Given the description of an element on the screen output the (x, y) to click on. 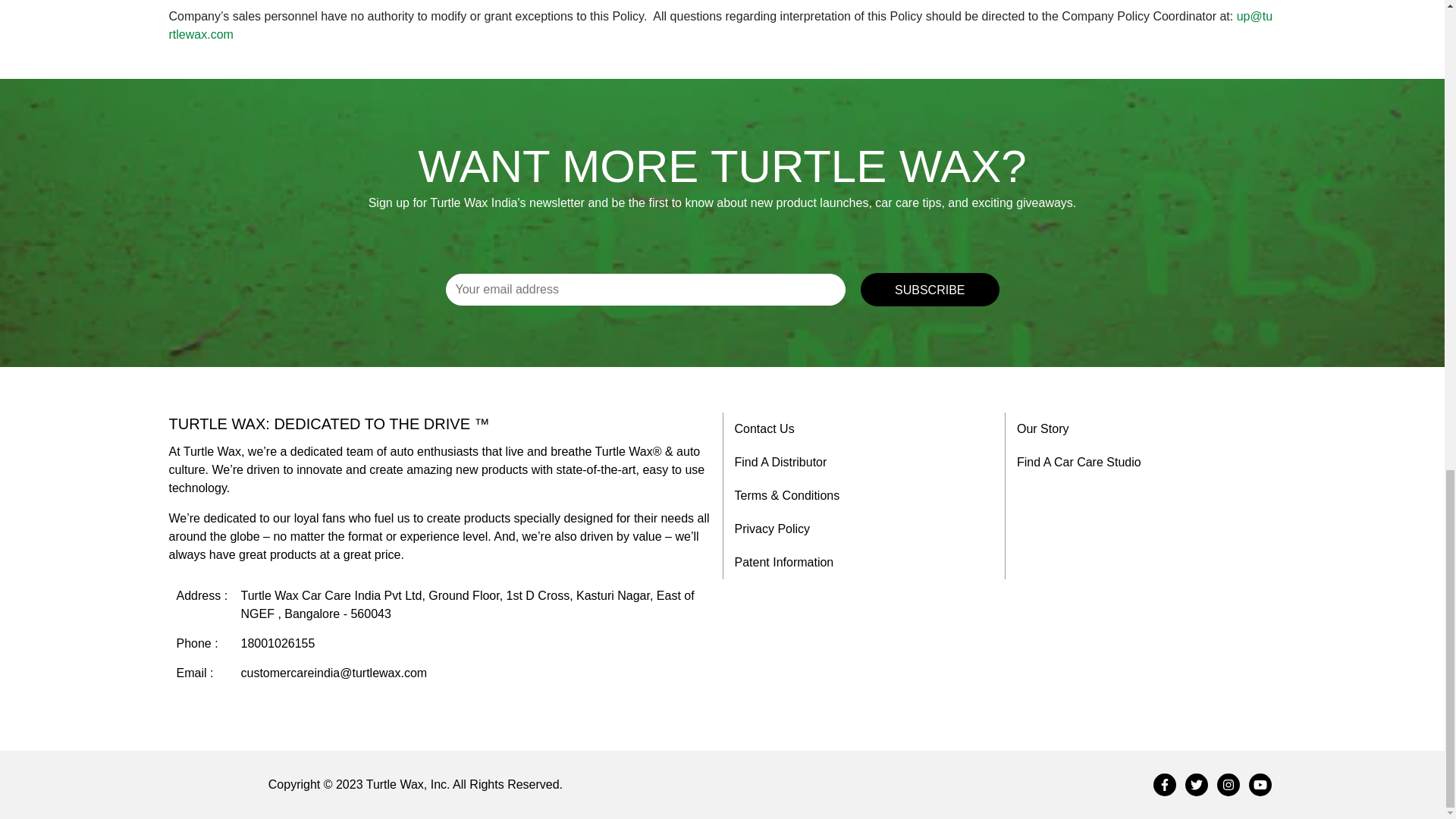
Turtle Wax India on Facebook (1163, 784)
Turtle Wax India on YouTube (1259, 784)
Turtle Wax India on Twitter (1196, 784)
Turtle Wax India on Instagram (1227, 784)
